Given the description of an element on the screen output the (x, y) to click on. 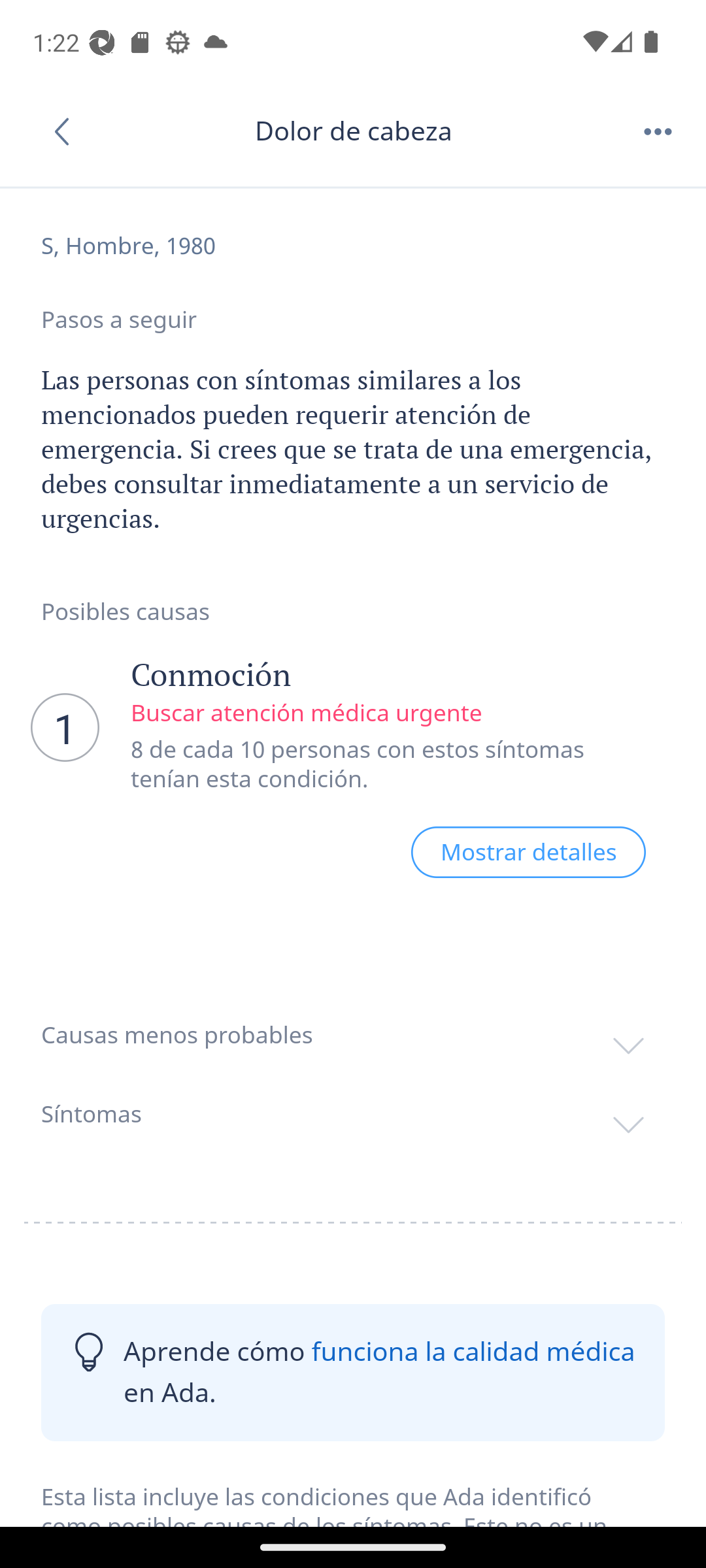
Go back, Navigates to the previous screen (68, 131)
Mostrar detalles (527, 851)
Causas menos probables  (352, 1034)
Síntomas  (352, 1113)
Aprende cómo funciona la calidad médica en Ada. (352, 1372)
